Given the description of an element on the screen output the (x, y) to click on. 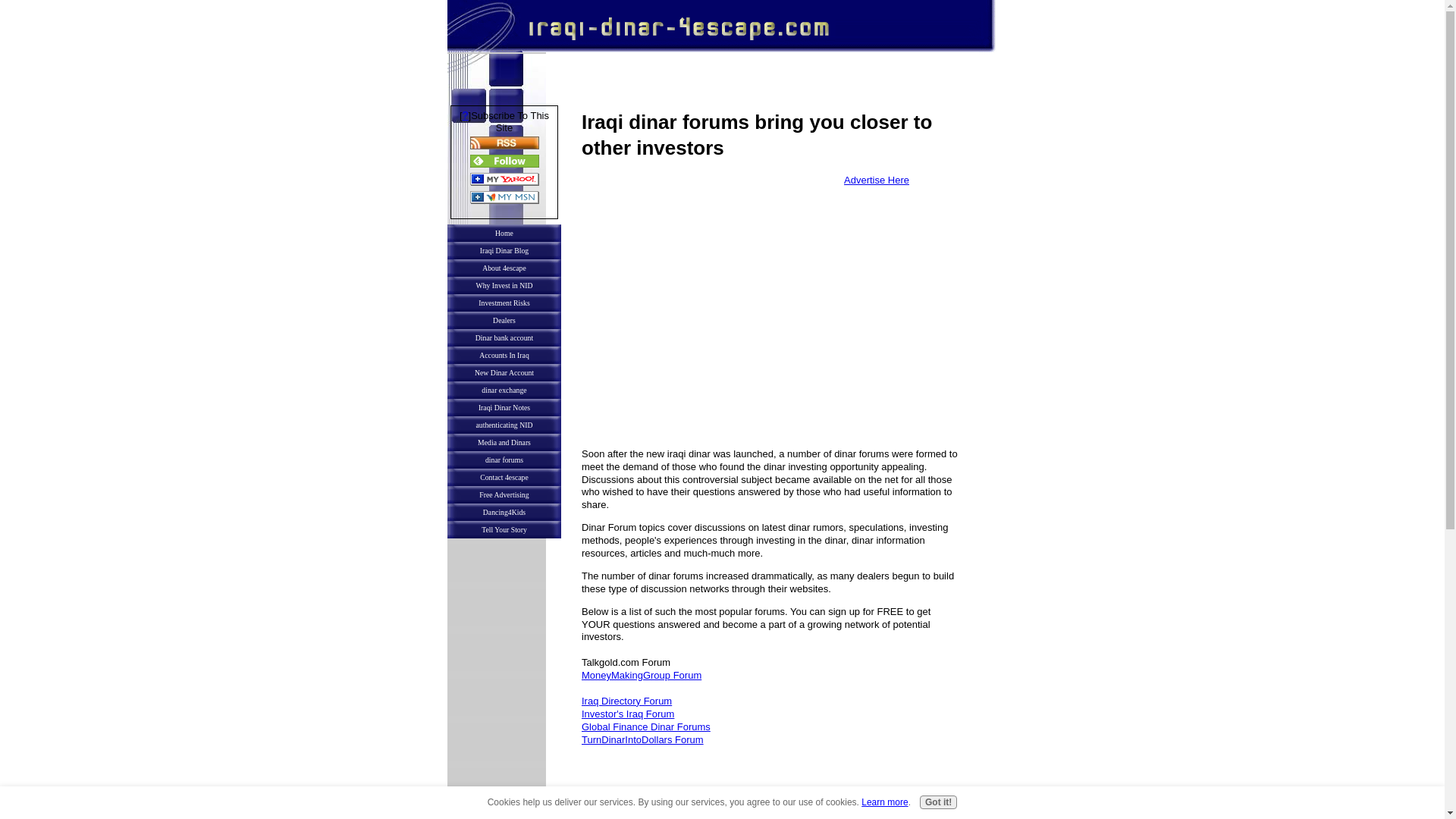
dinar forums (503, 459)
MoneyMakingGroup Forum (640, 674)
Investor's Iraq Forum (627, 713)
Learn more (884, 801)
TurnDinarIntoDollars Forum (641, 739)
Dancing4Kids (503, 511)
Iraqi Dinar Notes (503, 407)
authenticating NID (503, 425)
Media and Dinars (503, 442)
Global Finance Dinar Forums (645, 726)
Accounts In Iraq (503, 354)
Why Invest in NID (503, 285)
dinar exchange (503, 389)
About 4escape (503, 267)
Dealers (503, 320)
